Given the description of an element on the screen output the (x, y) to click on. 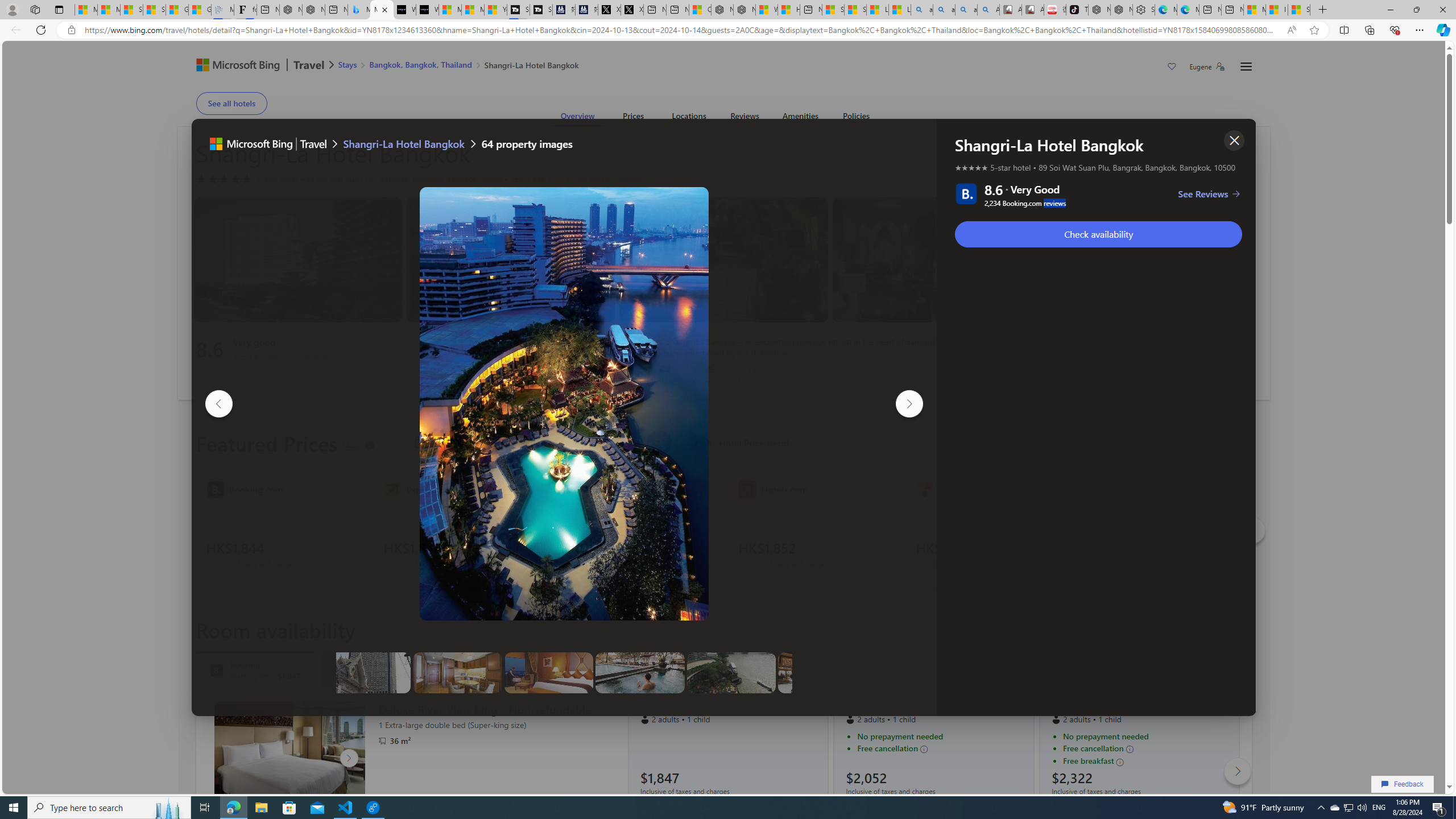
amazon - Search Images (966, 9)
Microsoft Bing Travel - Stays in Bangkok, Bangkok, Thailand (359, 9)
